Given the description of an element on the screen output the (x, y) to click on. 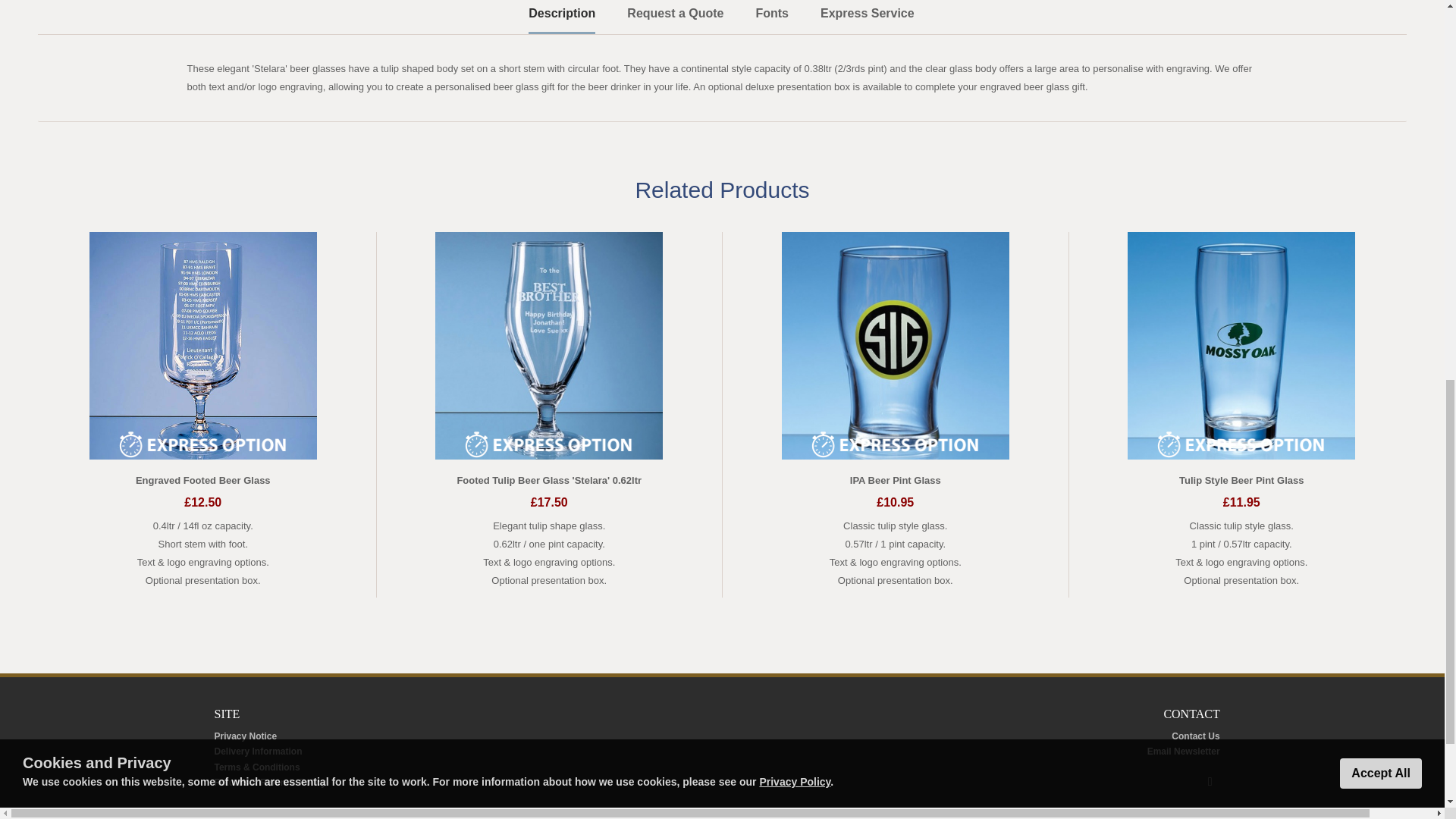
Request a Quote (675, 15)
Delivery Information (257, 751)
Contact Us (1196, 736)
Express Service (867, 15)
Description (561, 17)
Footed Tulip Beer Glass 'Stelara' 0.62ltr (549, 480)
Privacy Notice (245, 736)
Engraved Footed Beer Glass (202, 480)
IPA Beer Pint Glass (895, 480)
Tulip Style Beer Pint Glass (1241, 480)
Fonts (772, 15)
